Given the description of an element on the screen output the (x, y) to click on. 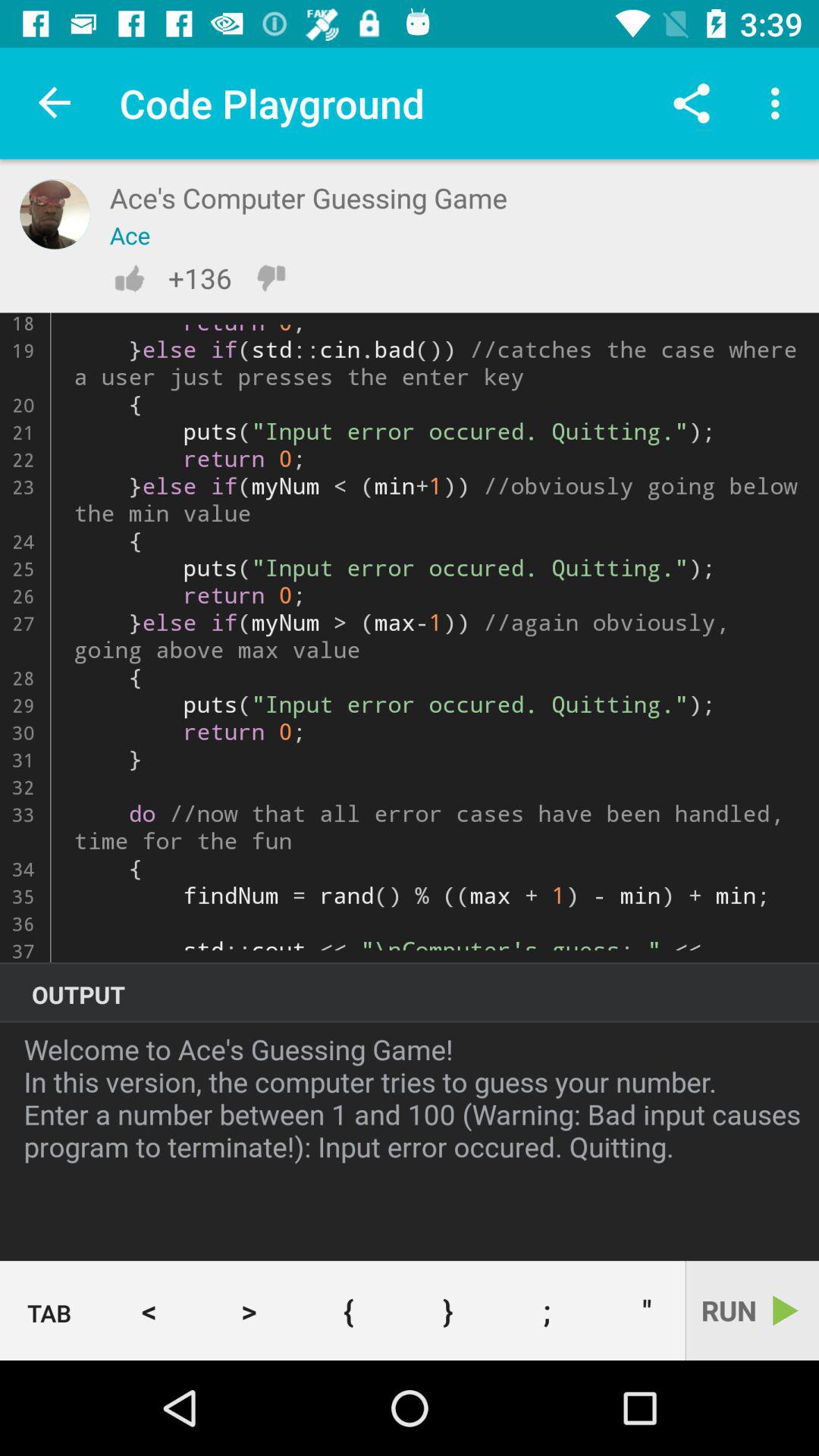
select the item above the include iostream include icon (691, 103)
